Given the description of an element on the screen output the (x, y) to click on. 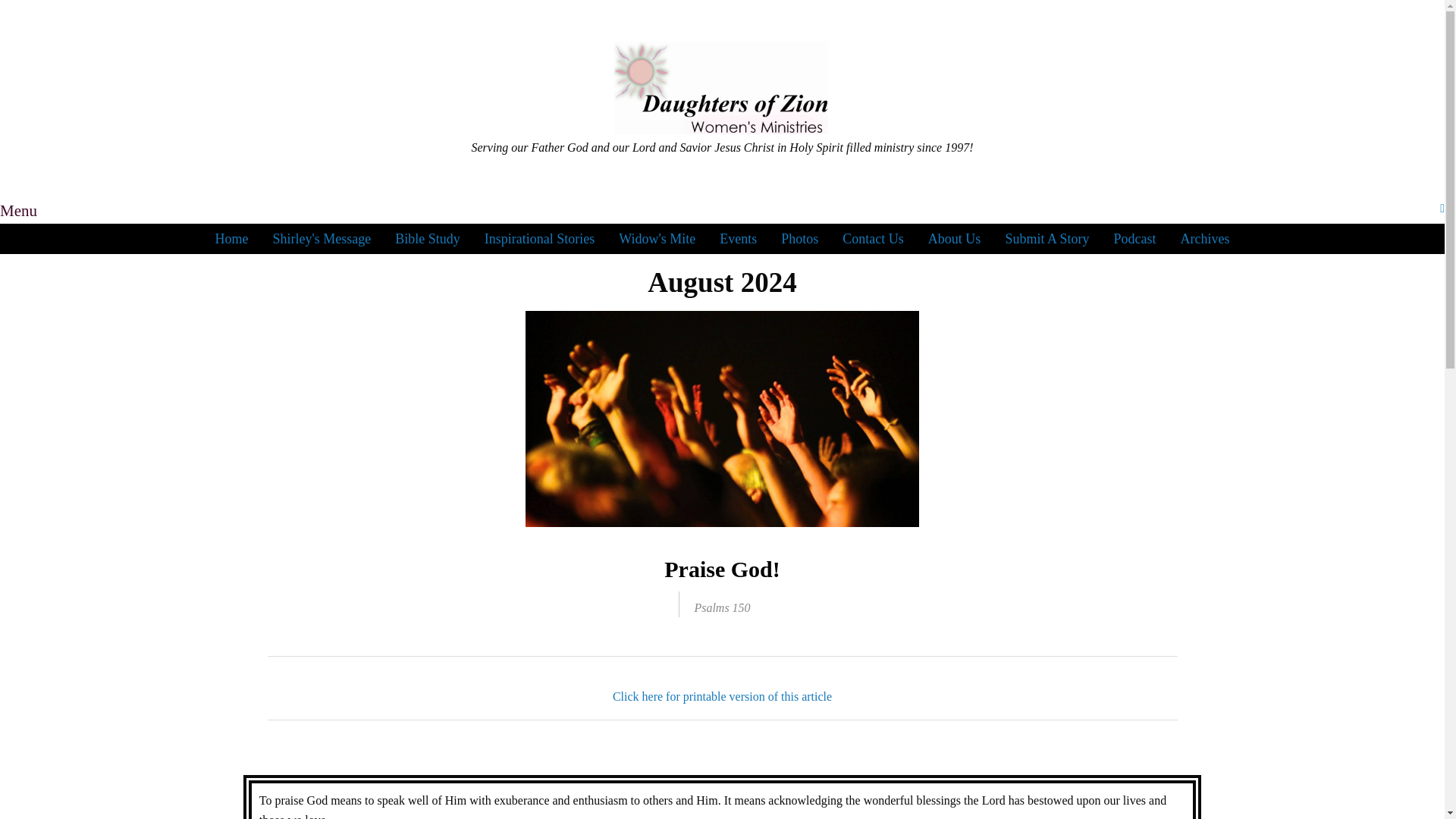
Submit A Story (1046, 238)
Shirley's Message (322, 238)
Widow's Mite (657, 238)
Click here for printable version of this article (721, 696)
Shirley's Message (322, 238)
Archives (1204, 238)
Menu (18, 211)
Inspirational Stories (539, 238)
Bible Study (426, 238)
About Us (953, 238)
